Given the description of an element on the screen output the (x, y) to click on. 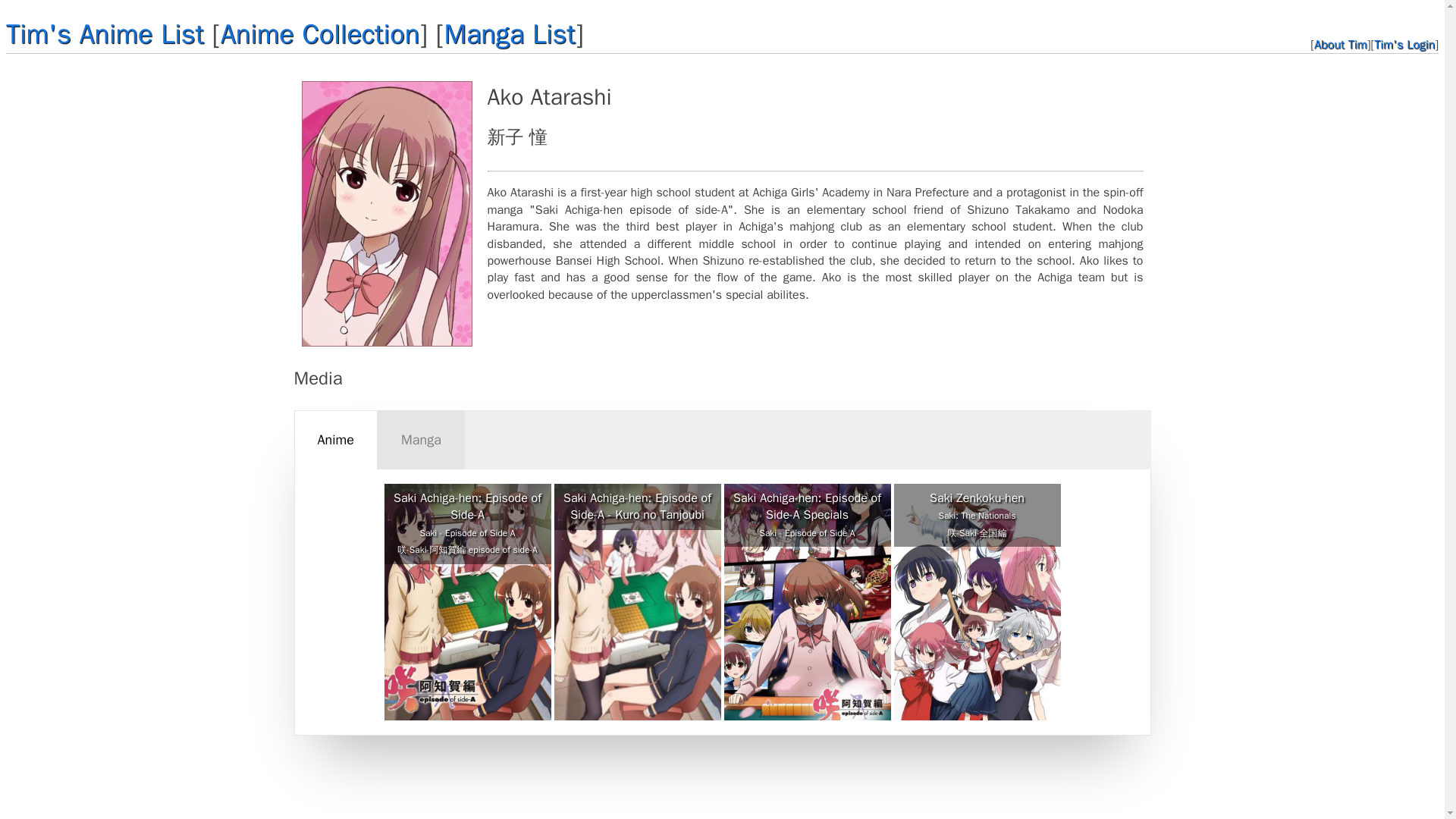
Tim's Anime List (104, 33)
Anime Collection (320, 33)
Saki Achiga-hen: Episode of Side-A - Kuro no Tanjoubi (636, 506)
Manga List (509, 33)
About Tim (1340, 44)
